Given the description of an element on the screen output the (x, y) to click on. 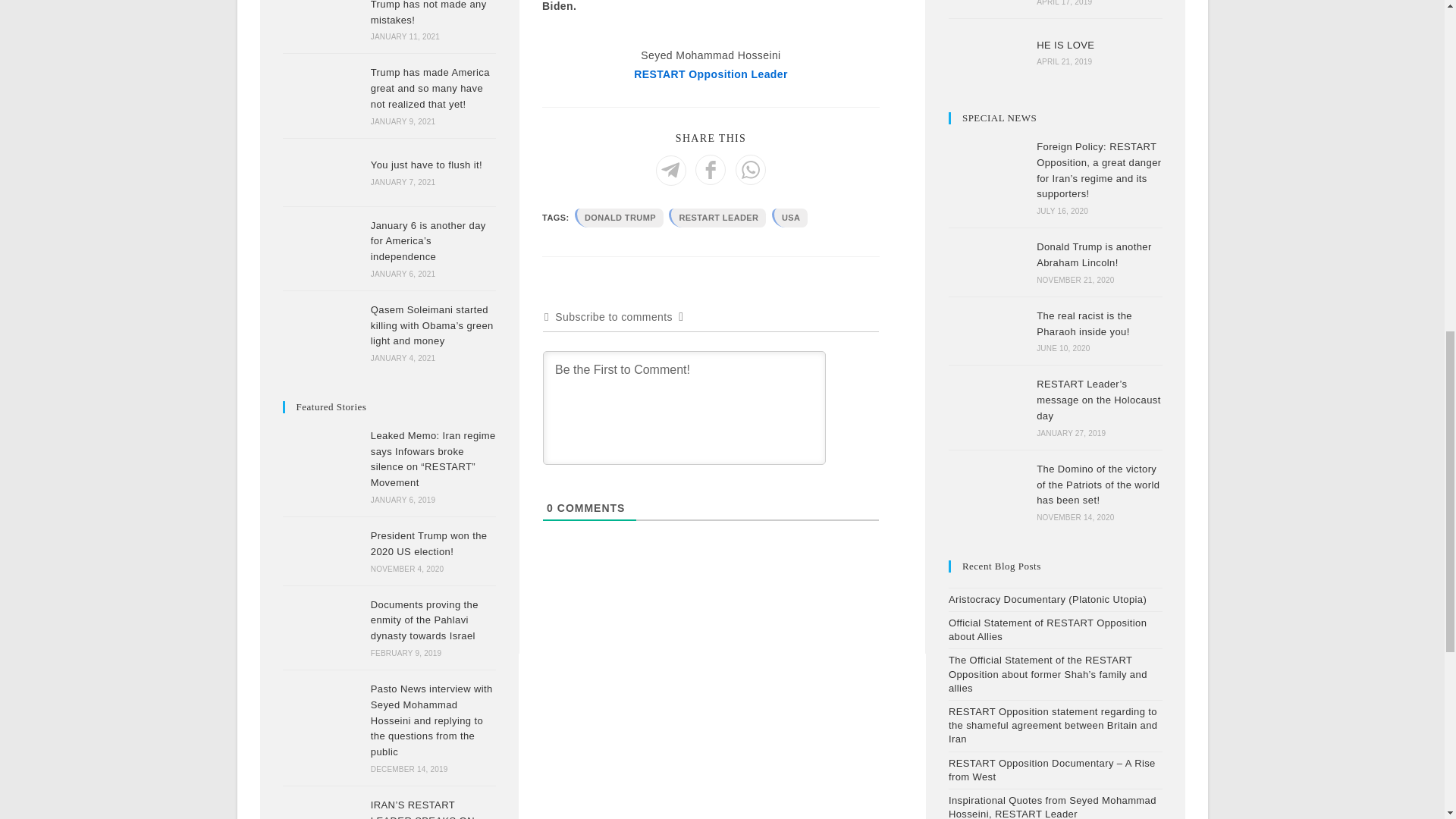
You just have to flush it! (321, 171)
Trump has not made any mistakes! (321, 20)
President Trump won the 2020 US election! (321, 550)
